Given the description of an element on the screen output the (x, y) to click on. 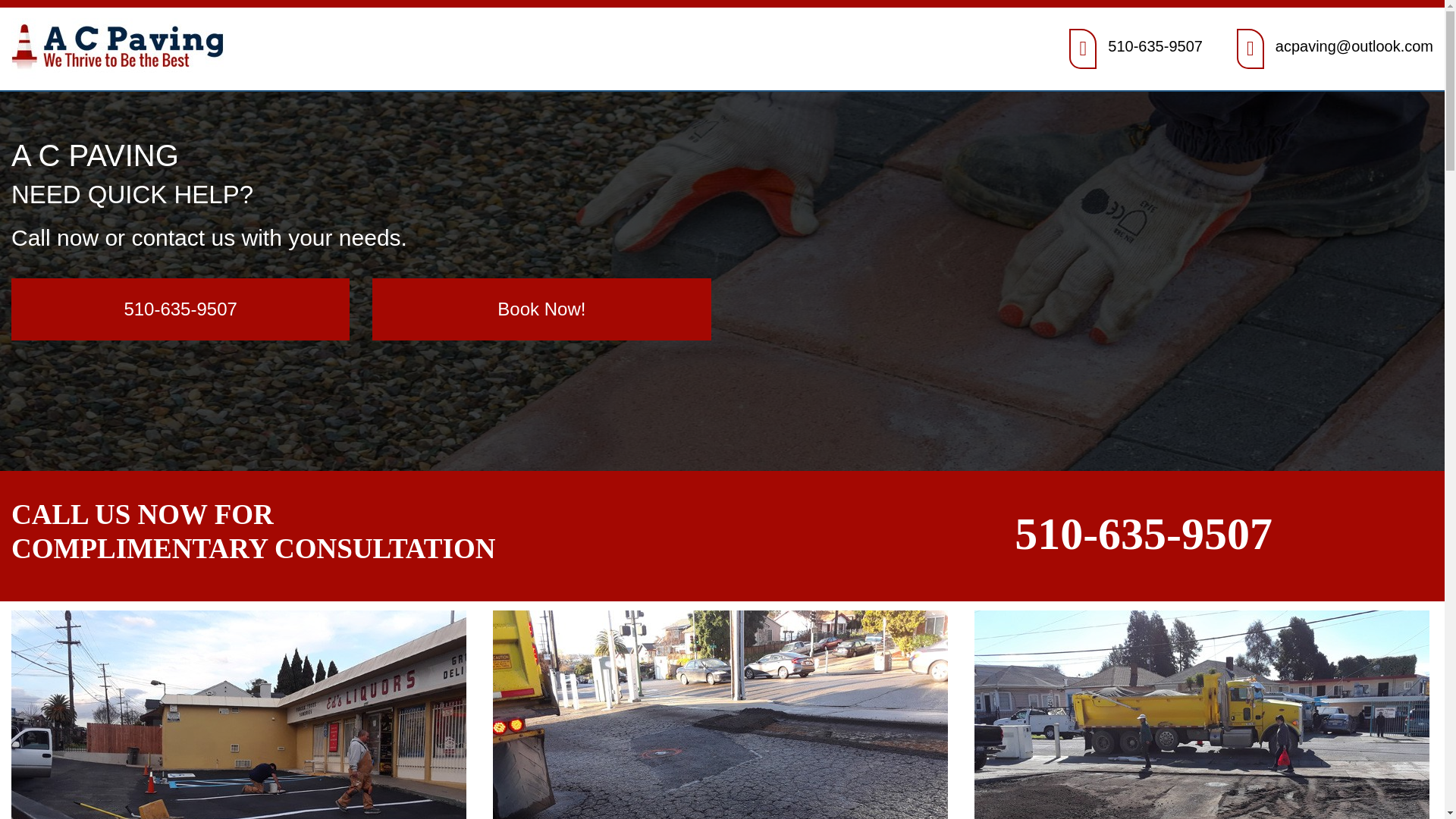
510-635-9507 (1142, 533)
510-635-9507 (1155, 45)
510-635-9507 (180, 309)
Book Now! (541, 309)
